Given the description of an element on the screen output the (x, y) to click on. 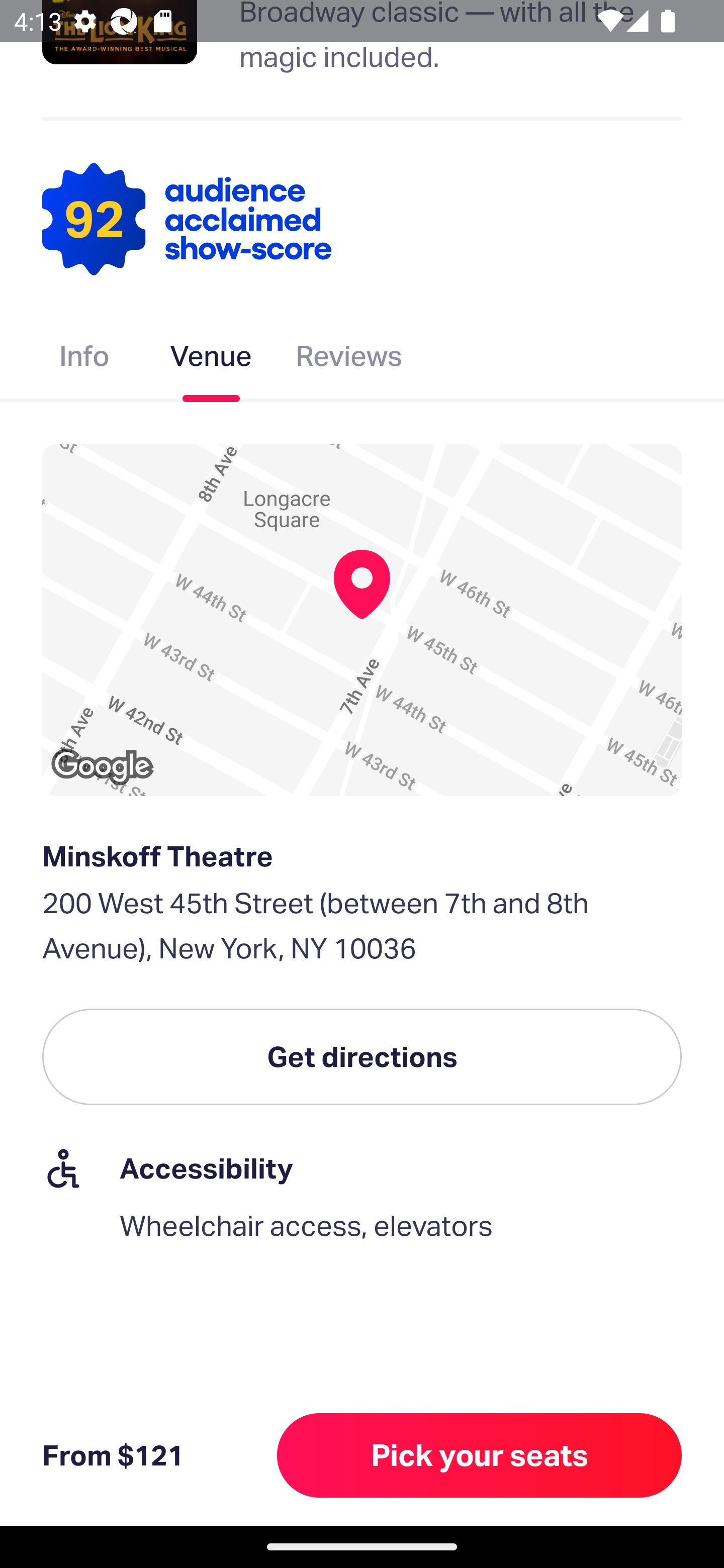
Info (83, 359)
Reviews (348, 359)
Google Map Minskoff Theatre.  (361, 619)
Get directions (361, 1056)
Pick your seats (479, 1454)
